Given the description of an element on the screen output the (x, y) to click on. 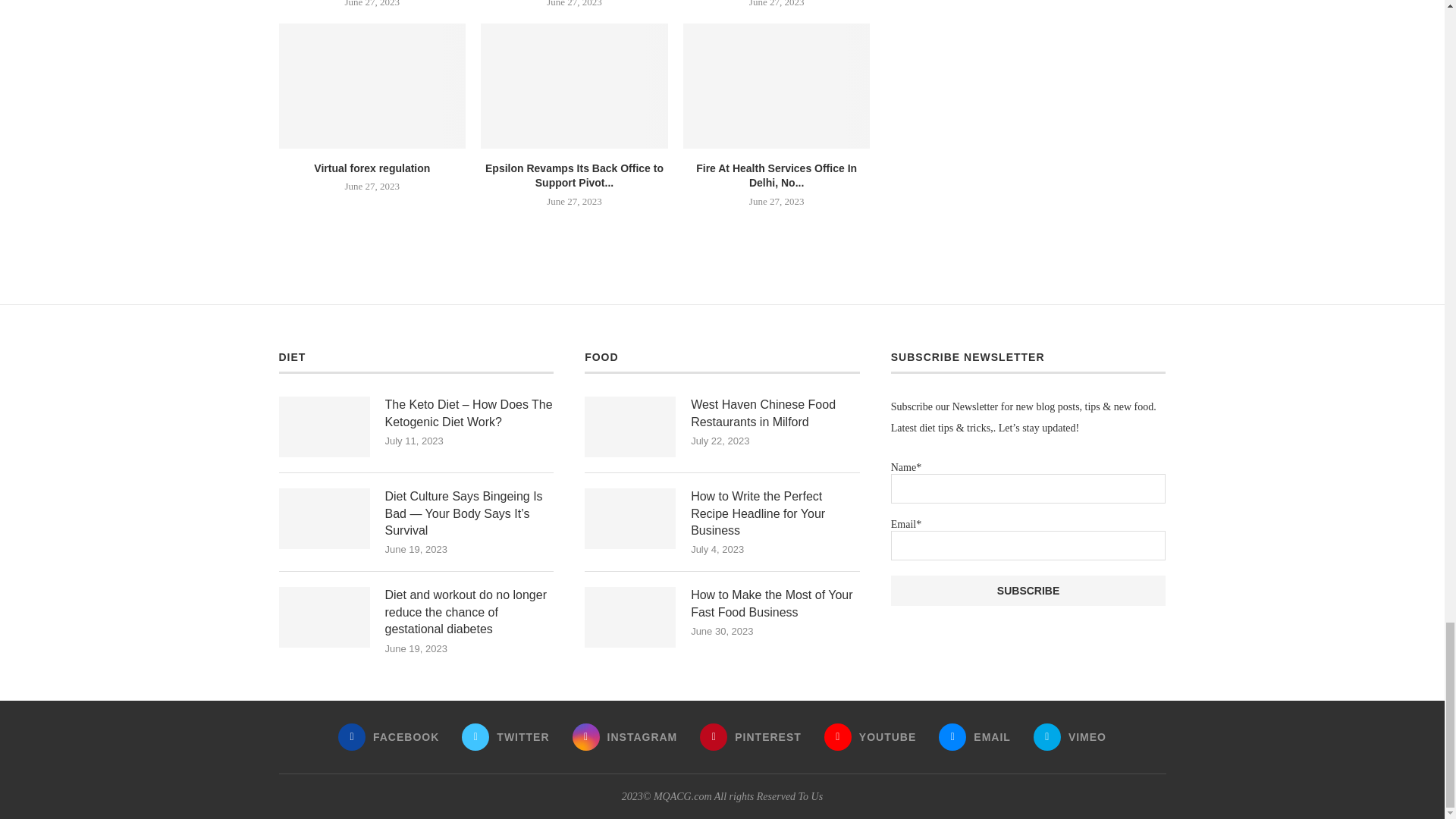
Virtual forex regulation (372, 85)
Subscribe (1028, 590)
